Given the description of an element on the screen output the (x, y) to click on. 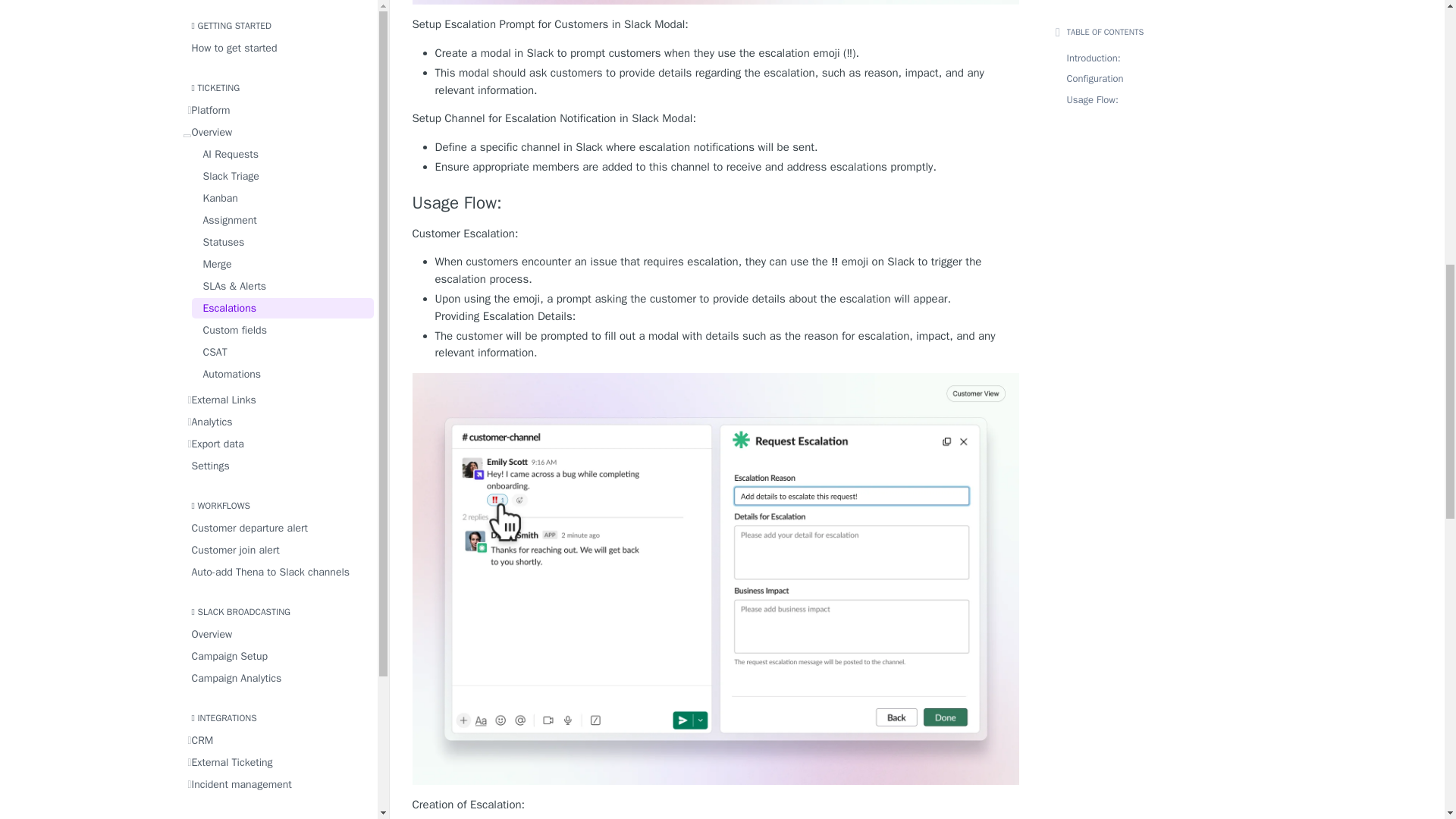
Usage Flow: (715, 202)
